Given the description of an element on the screen output the (x, y) to click on. 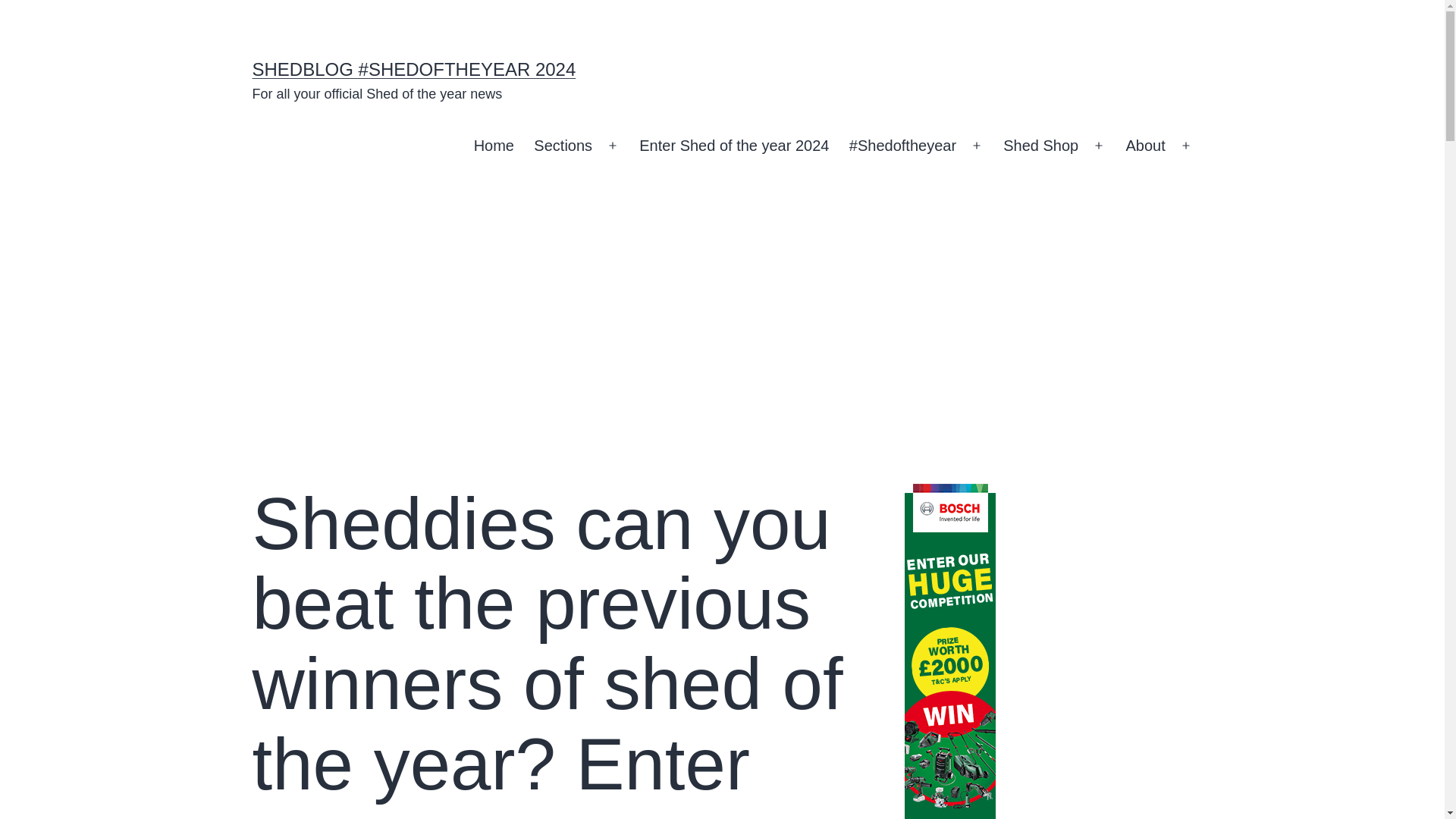
About (1144, 145)
About Shedblog (1144, 145)
Sections (563, 145)
Blog sections (563, 145)
Enter Shed of the year 2024 (734, 145)
Home (493, 145)
Shed Shop (1039, 145)
